Given the description of an element on the screen output the (x, y) to click on. 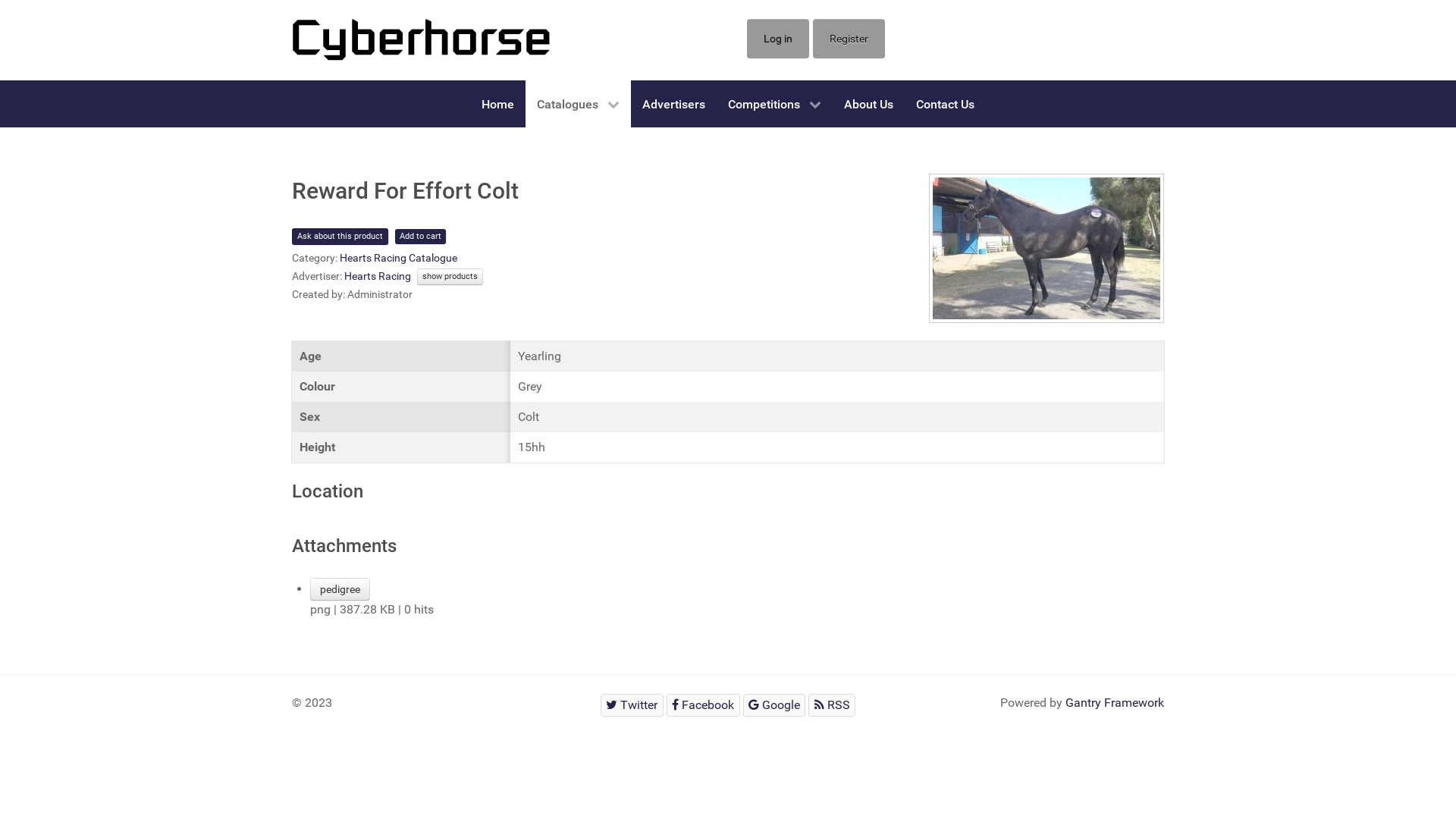
Home Element type: text (497, 103)
Advertisers Element type: text (673, 103)
pedigree Element type: text (340, 588)
Contact Us Element type: text (944, 103)
RSS Element type: text (831, 704)
Hearts Racing Catalogue Element type: text (398, 257)
Twitter Element type: text (631, 704)
Register Element type: text (848, 38)
show products Element type: text (450, 276)
Ask about this product Element type: text (339, 236)
rewardforefforthushabyebabycolt Element type: hover (1046, 248)
Gantry 5 Element type: hover (420, 38)
Facebook Element type: text (703, 704)
Google Element type: text (774, 704)
Hearts Racing Element type: text (377, 275)
Gantry Framework Element type: text (1114, 702)
Log in Element type: text (777, 38)
Add to cart Element type: text (420, 236)
